Given the description of an element on the screen output the (x, y) to click on. 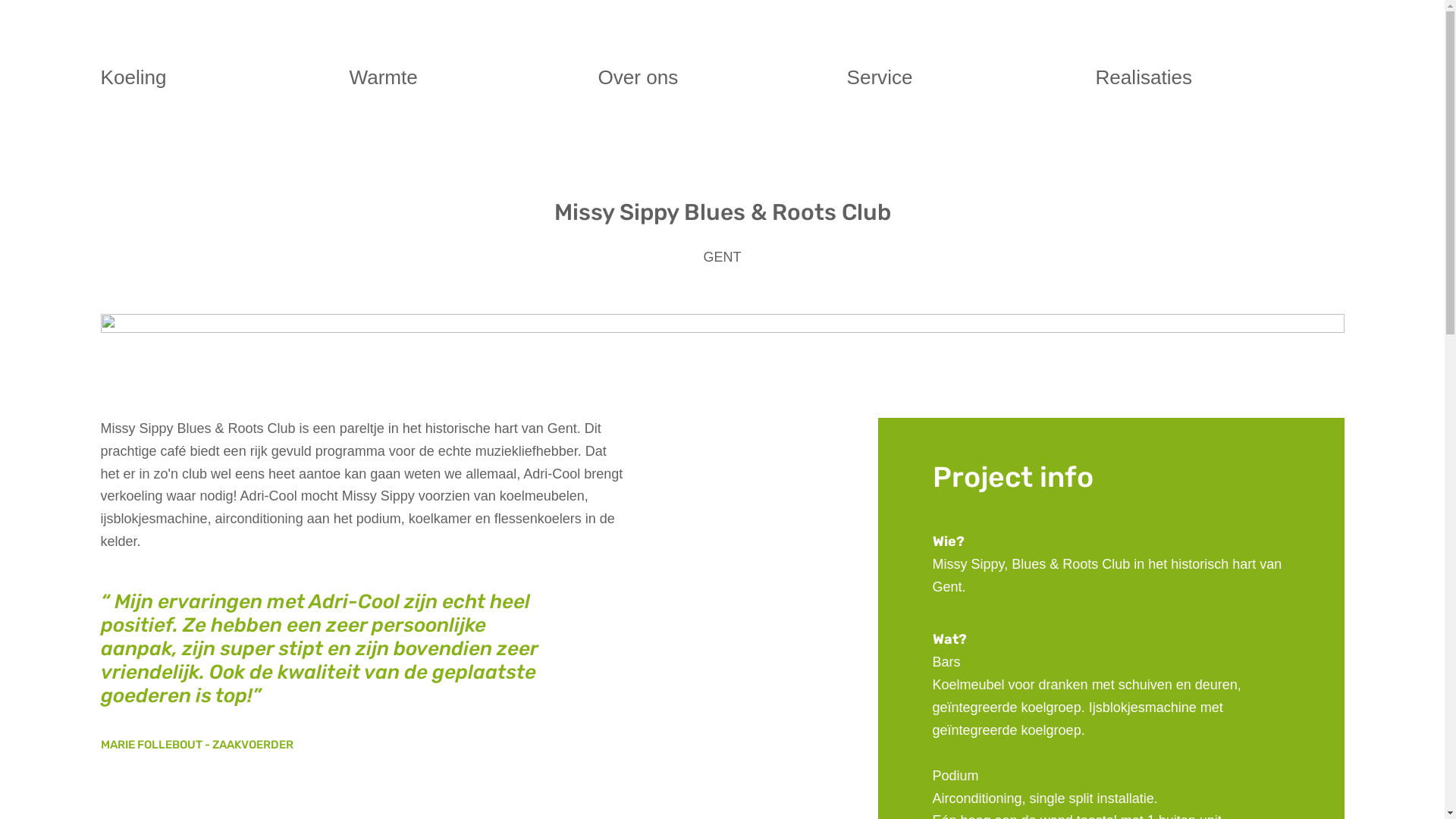
Warmte Element type: text (382, 77)
Koeling Element type: text (133, 77)
Service Element type: text (879, 77)
Realisaties Element type: text (1143, 77)
Over ons Element type: text (637, 77)
